Given the description of an element on the screen output the (x, y) to click on. 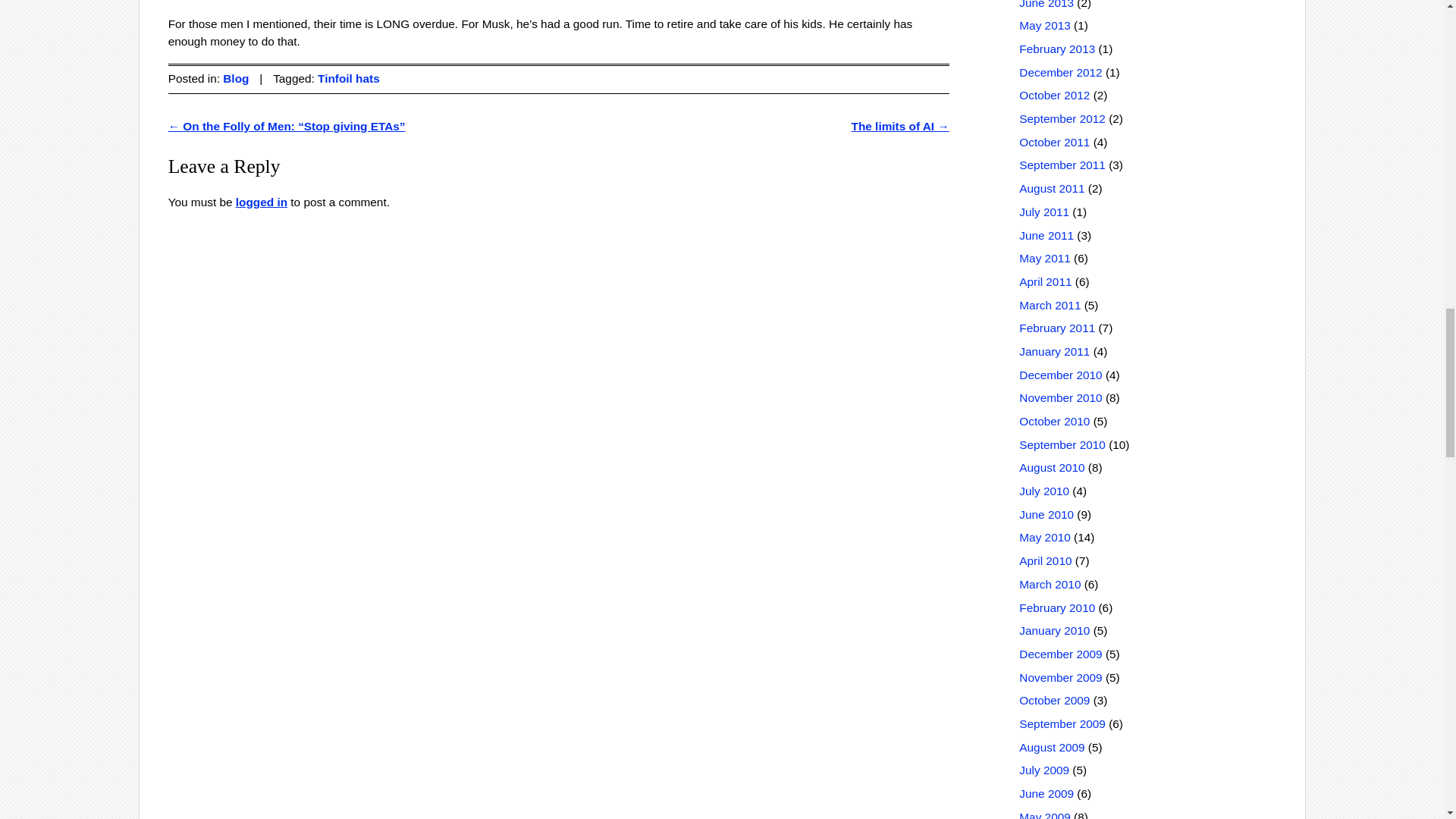
logged in (260, 201)
Blog (235, 78)
Tinfoil hats (348, 78)
